Given the description of an element on the screen output the (x, y) to click on. 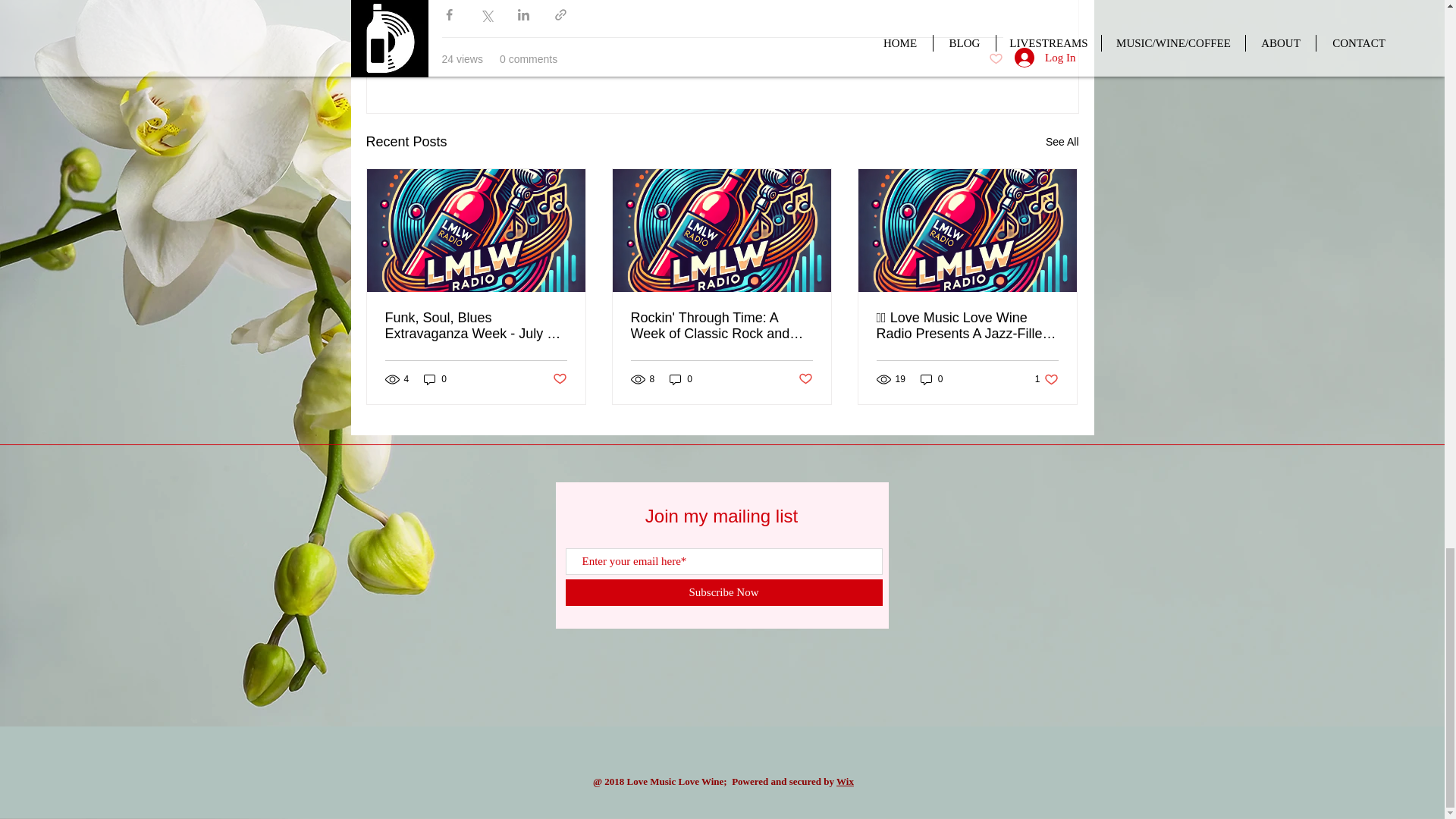
Post not marked as liked (804, 379)
0 (435, 378)
Post not marked as liked (558, 379)
0 (681, 378)
0 (1046, 378)
See All (931, 378)
Funk, Soul, Blues Extravaganza Week - July 22-28! (1061, 142)
Post not marked as liked (476, 326)
